Given the description of an element on the screen output the (x, y) to click on. 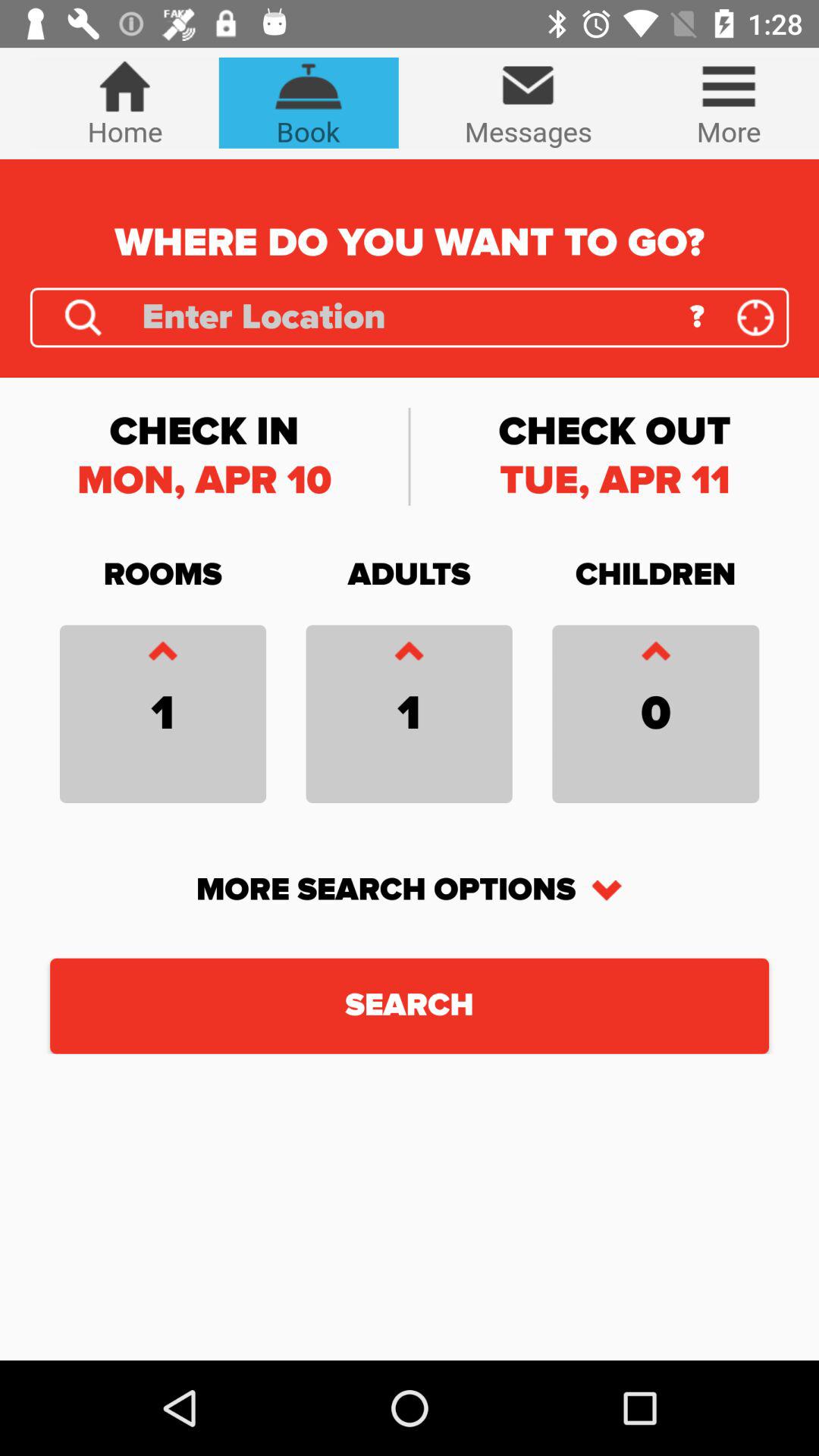
put location (755, 317)
